Given the description of an element on the screen output the (x, y) to click on. 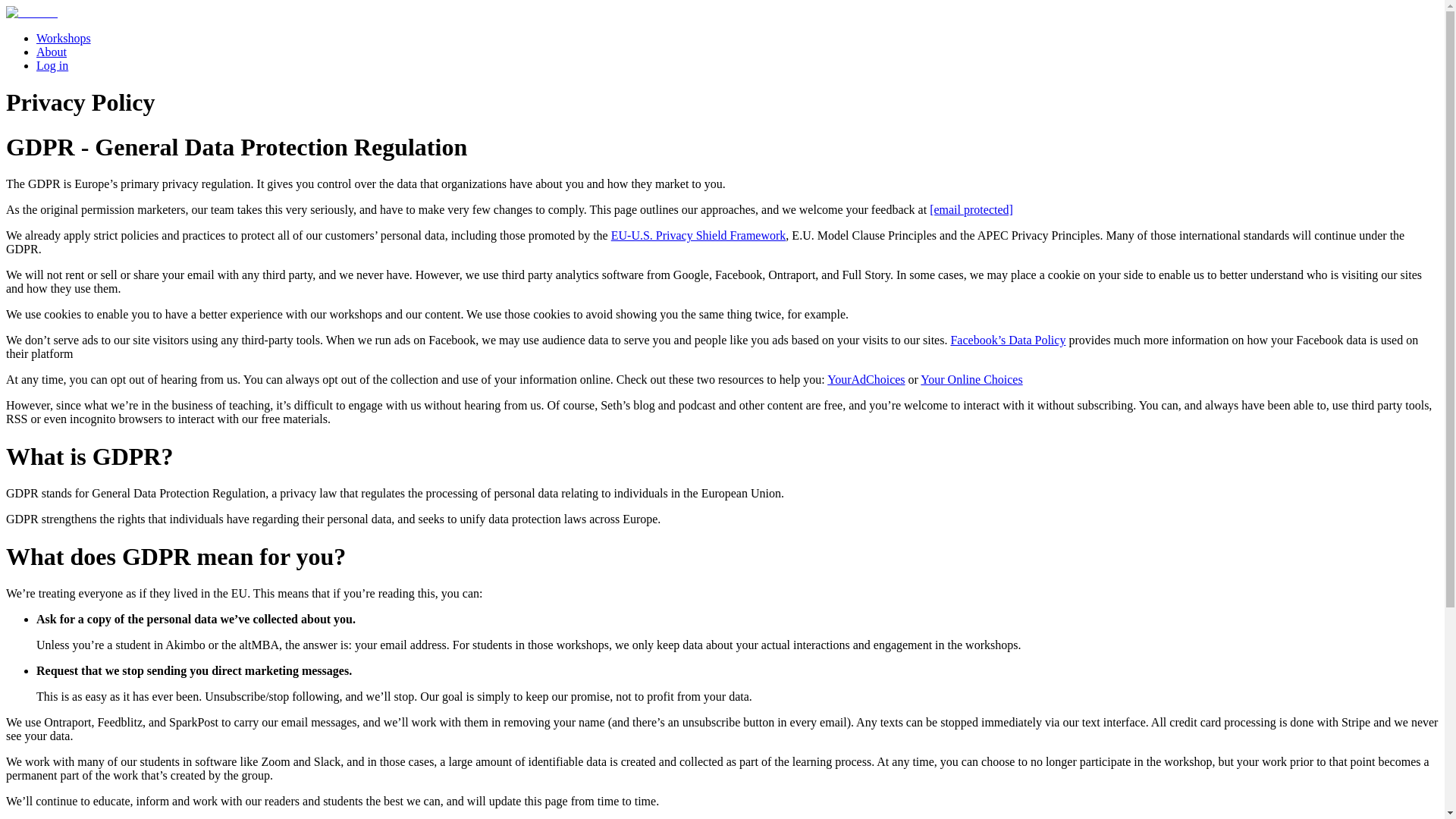
About (51, 51)
YourAdChoices (865, 379)
Your Online Choices (971, 379)
EU-U.S. Privacy Shield Framework (698, 235)
Workshops (63, 38)
Log in (52, 65)
